Given the description of an element on the screen output the (x, y) to click on. 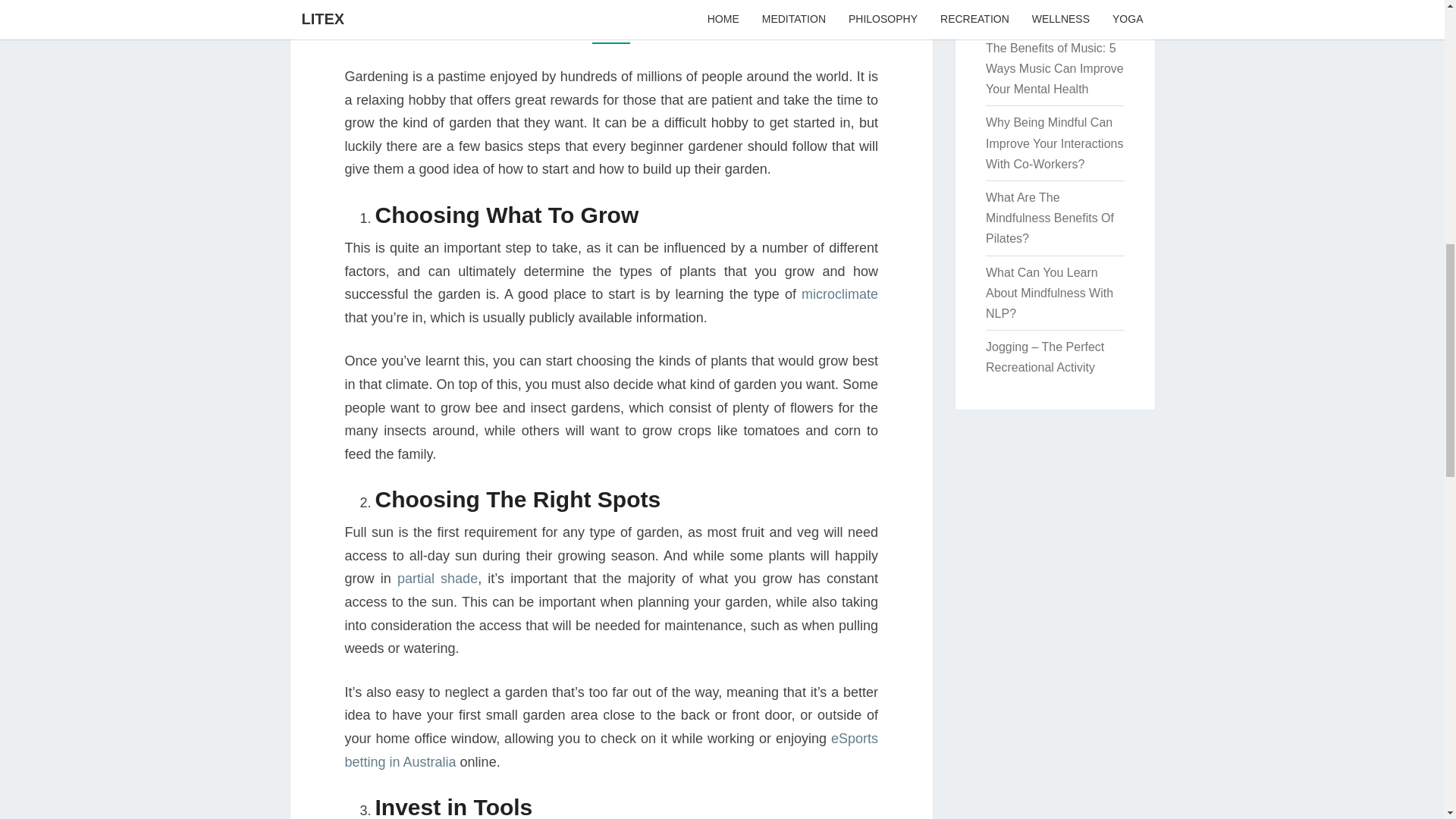
microclimate (839, 294)
What Are The Mindfulness Benefits Of Pilates? (1049, 217)
What Can You Learn About Mindfulness With NLP? (1049, 293)
January 20, 2020 (568, 24)
partial shade (437, 578)
eSports betting in Australia (610, 750)
Cecelia Segal (676, 24)
View all posts by Cecelia Segal (676, 24)
